Given the description of an element on the screen output the (x, y) to click on. 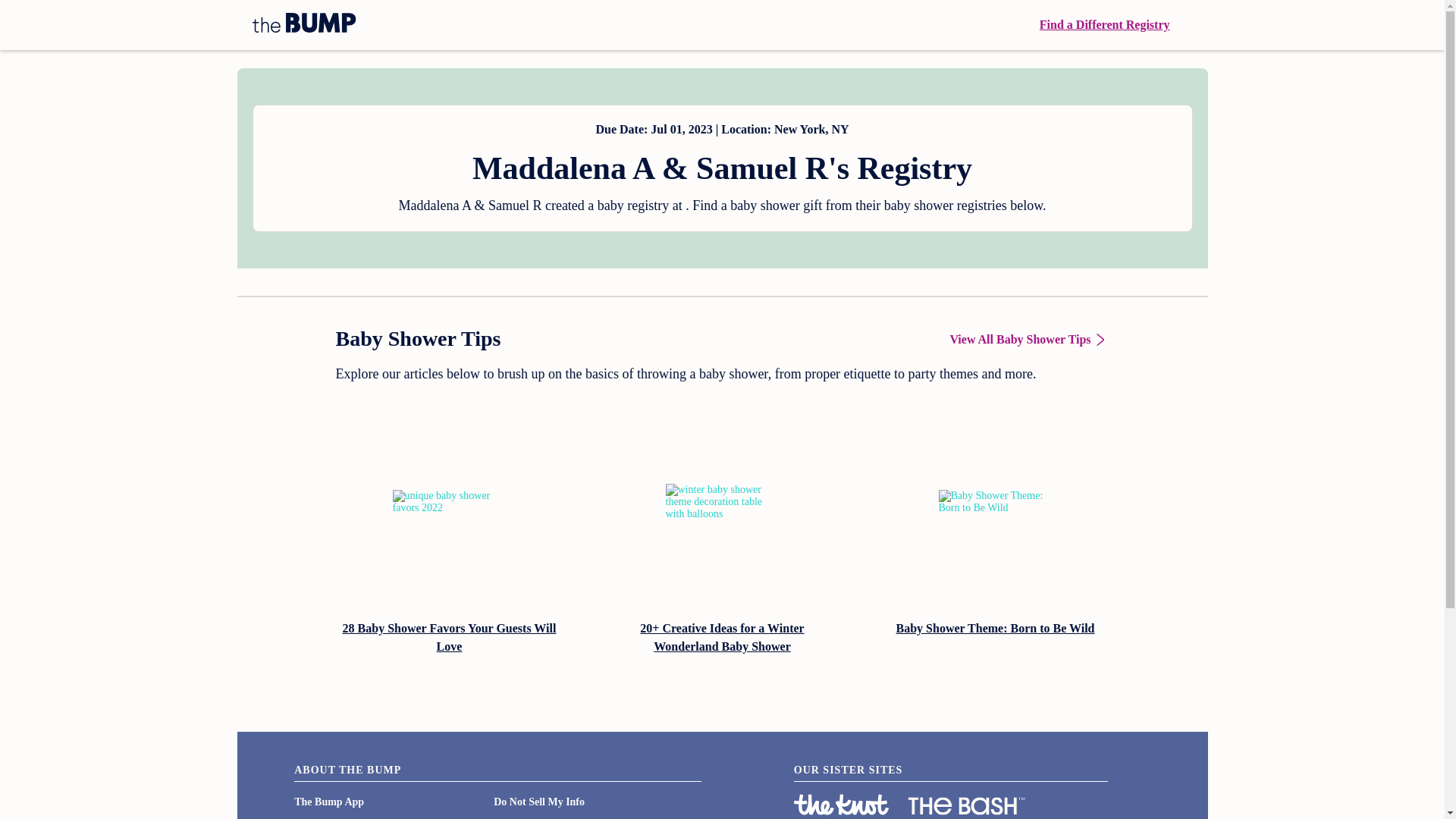
Do Not Sell My Info (539, 801)
The Bump App (329, 801)
Find a Different Registry (1104, 24)
View All Baby Shower Tips (1028, 339)
